Given the description of an element on the screen output the (x, y) to click on. 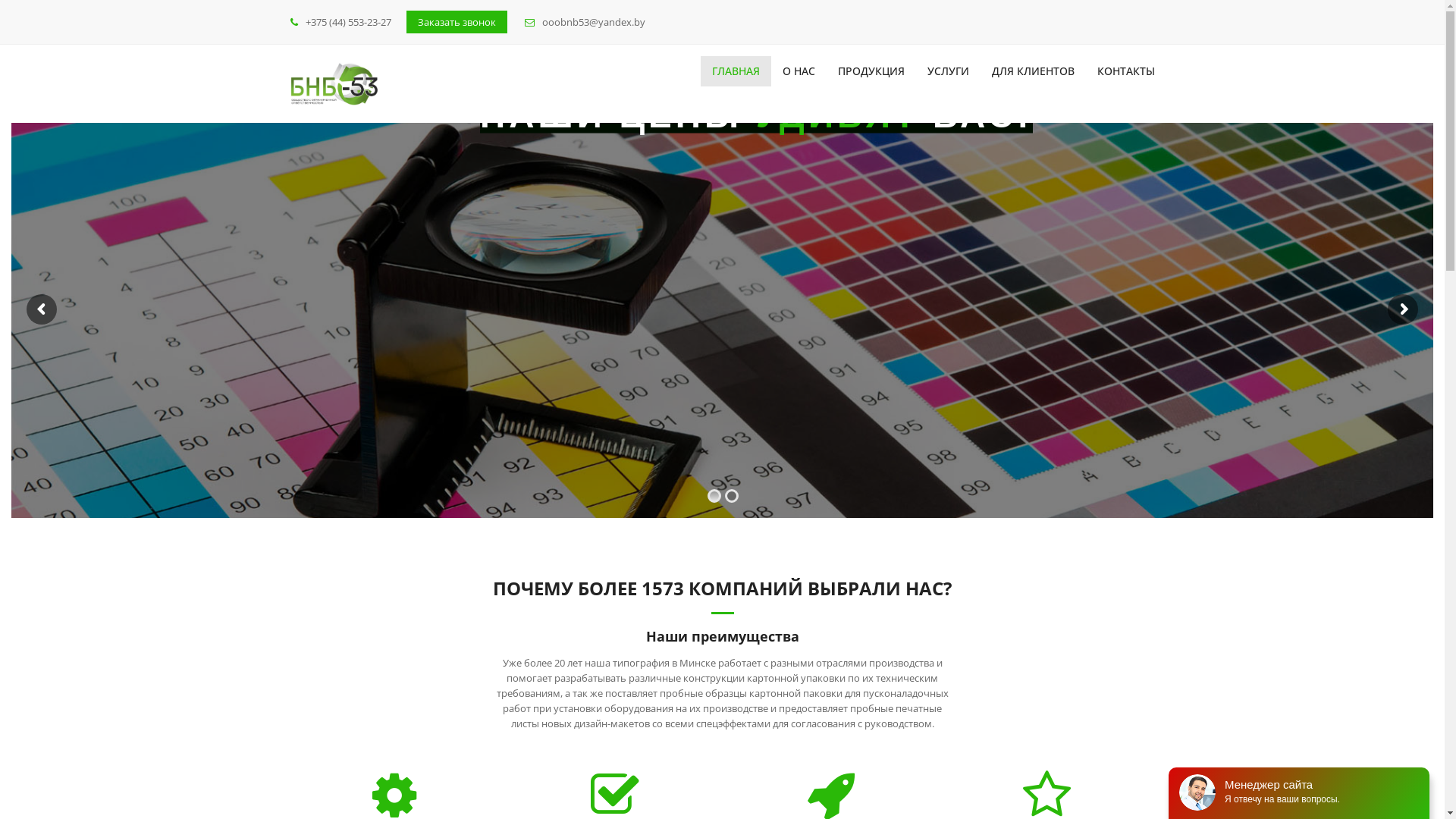
You are here. Element type: hover (334, 83)
